Given the description of an element on the screen output the (x, y) to click on. 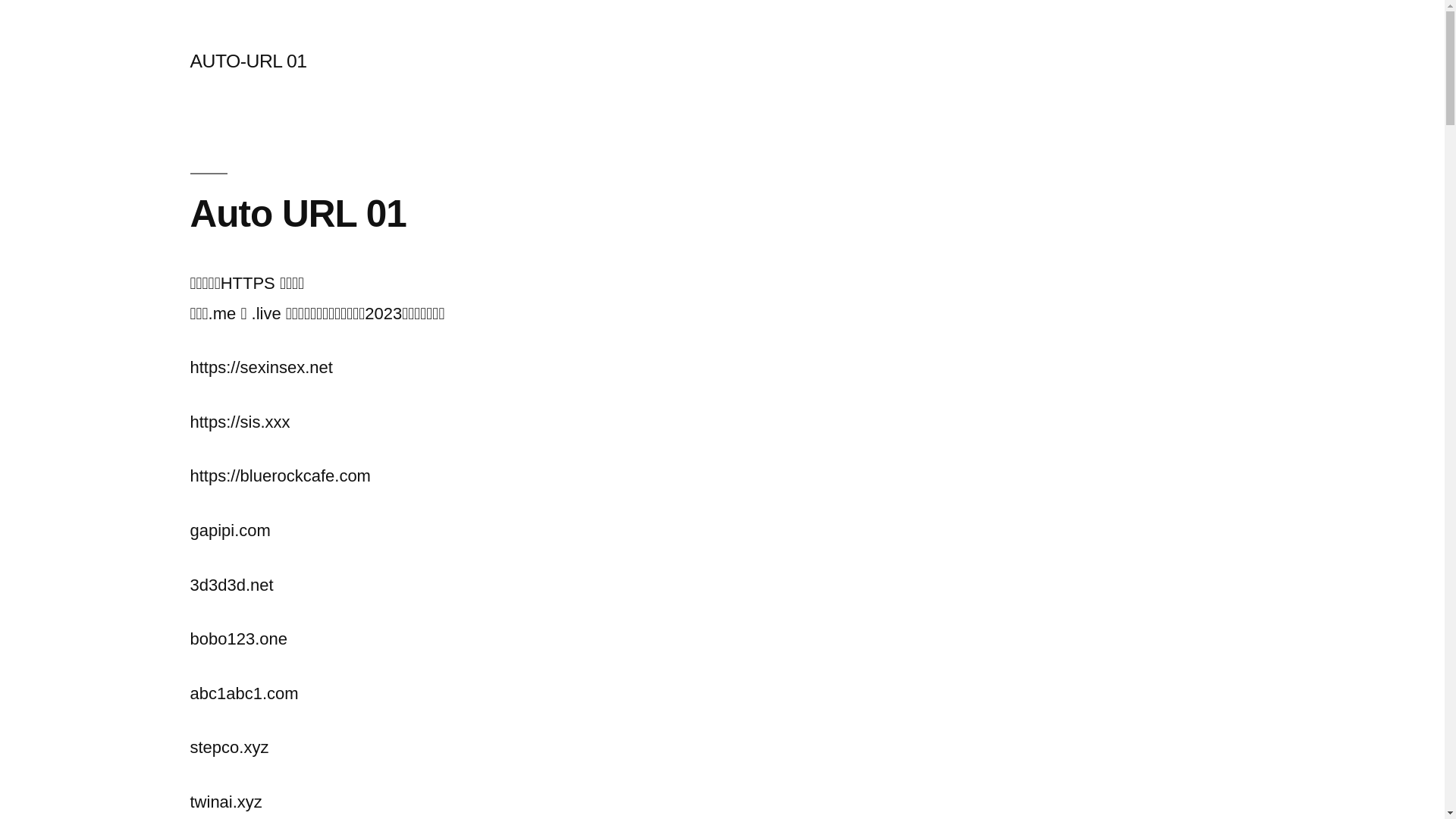
AUTO-URL 01 Element type: text (247, 60)
Auto URL 01 Element type: text (297, 213)
